Given the description of an element on the screen output the (x, y) to click on. 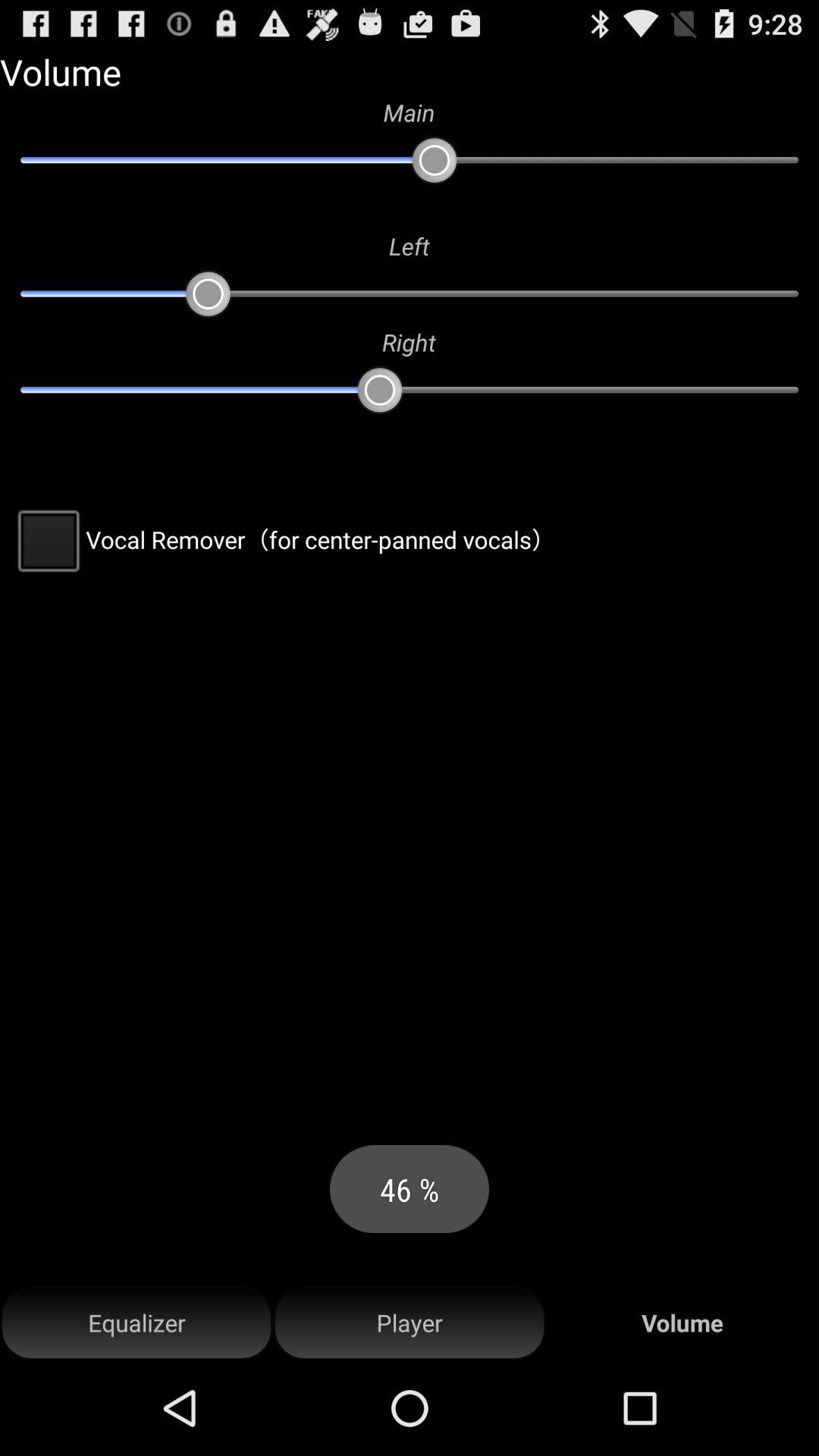
open the equalizer at the bottom left corner (136, 1323)
